Given the description of an element on the screen output the (x, y) to click on. 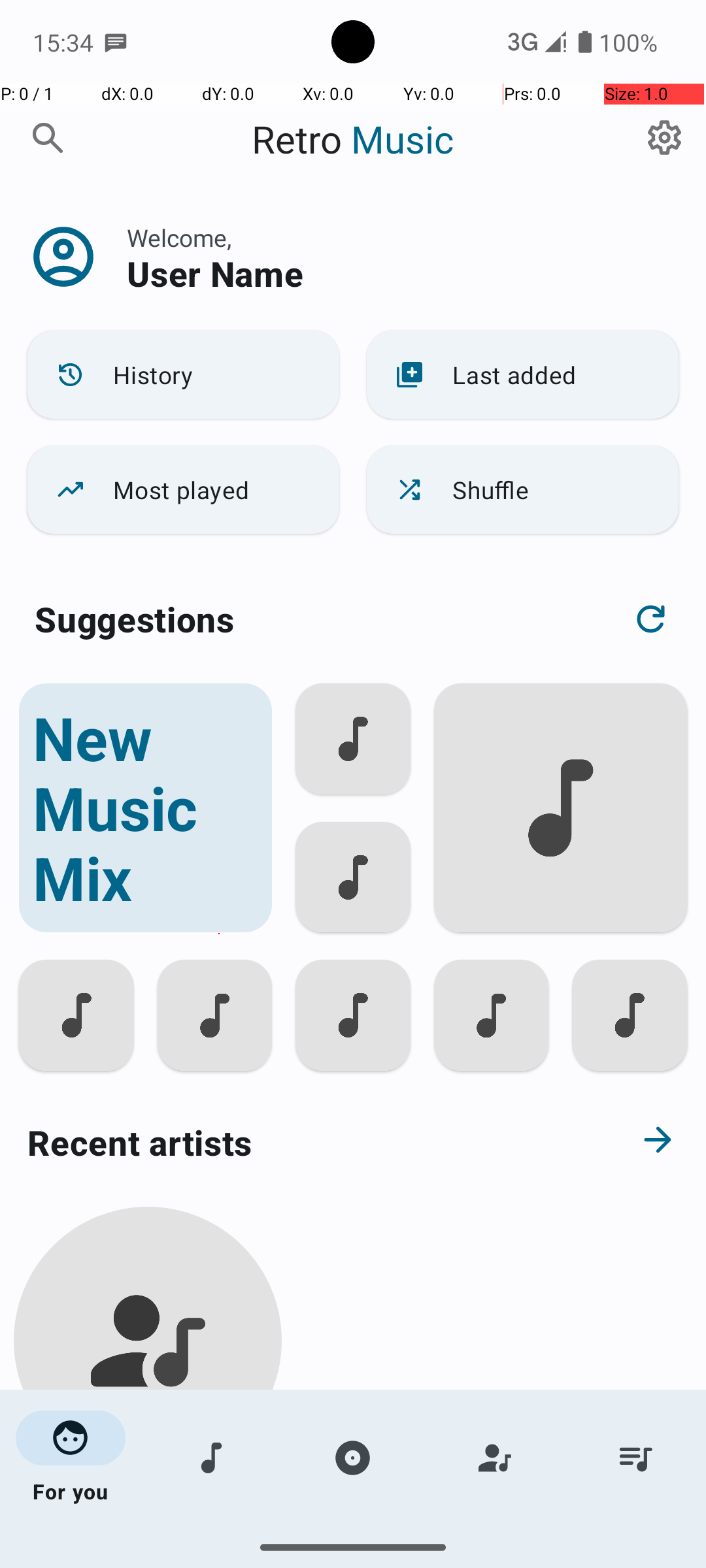
Anna Element type: android.widget.TextView (147, 1503)
